Given the description of an element on the screen output the (x, y) to click on. 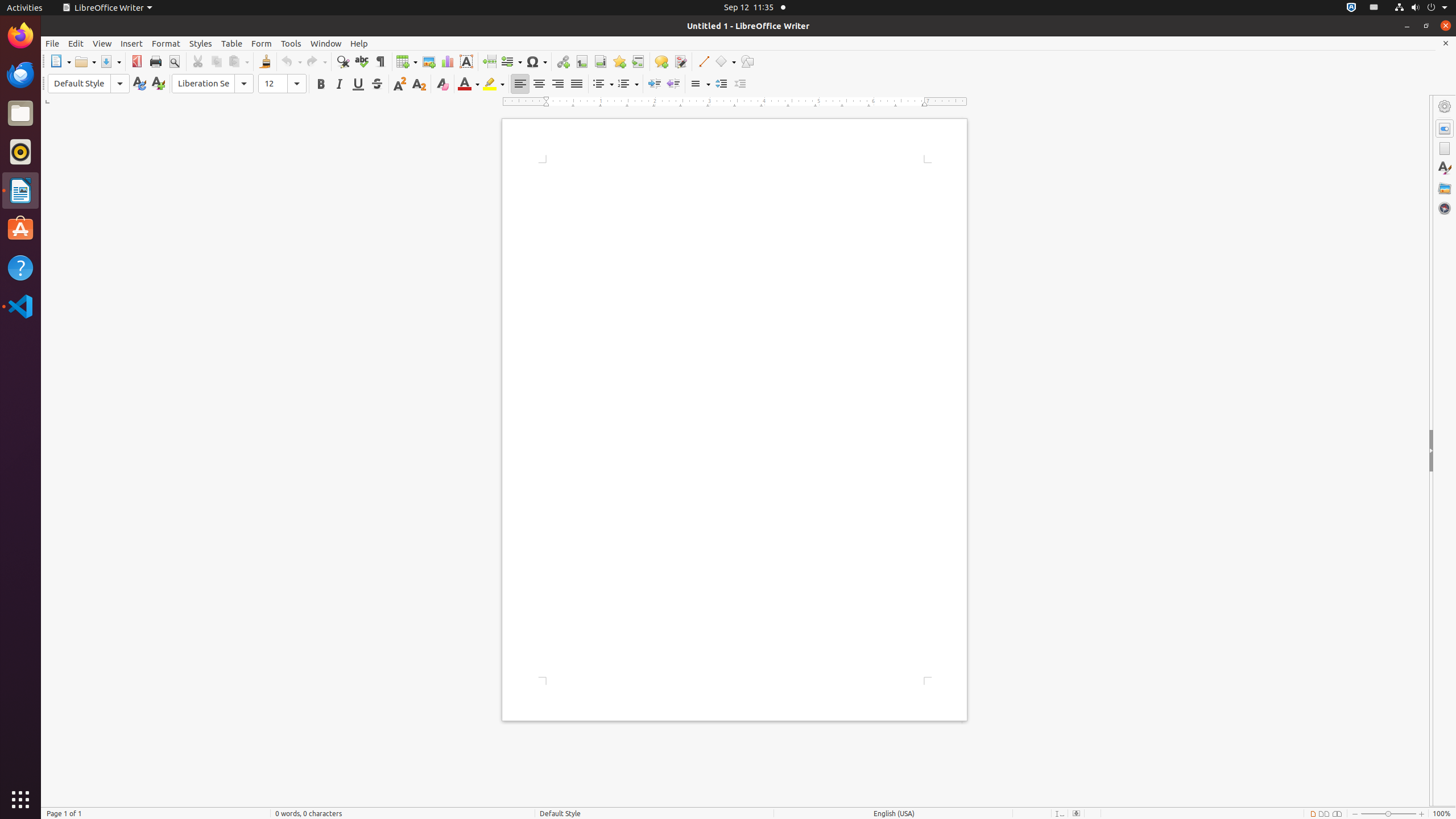
Print Preview Element type: toggle-button (173, 61)
Text Box Element type: push-button (465, 61)
Decrease Element type: push-button (739, 83)
Undo Element type: push-button (290, 61)
:1.72/StatusNotifierItem Element type: menu (1350, 7)
